Given the description of an element on the screen output the (x, y) to click on. 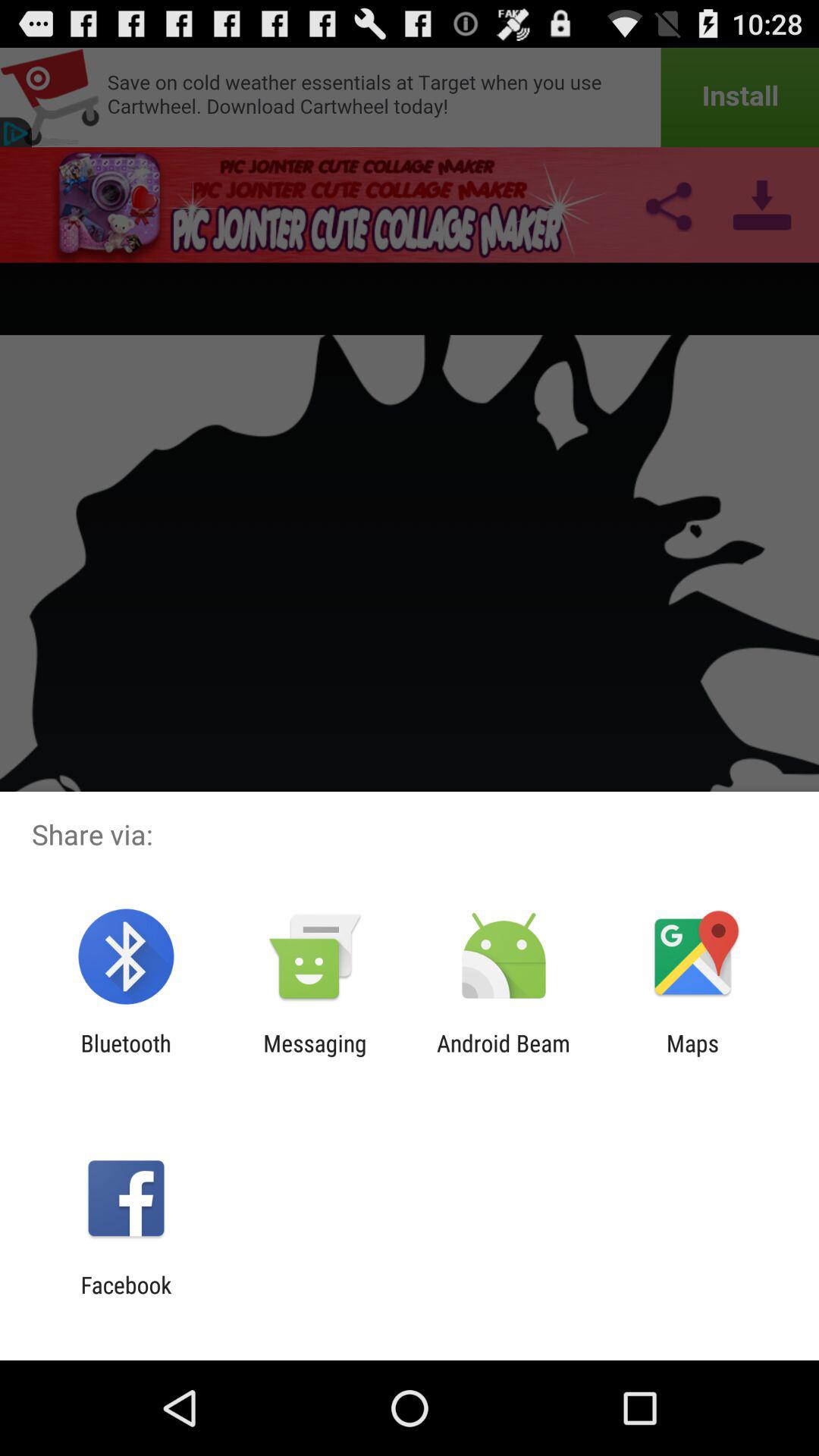
turn on the app to the right of bluetooth app (314, 1056)
